Given the description of an element on the screen output the (x, y) to click on. 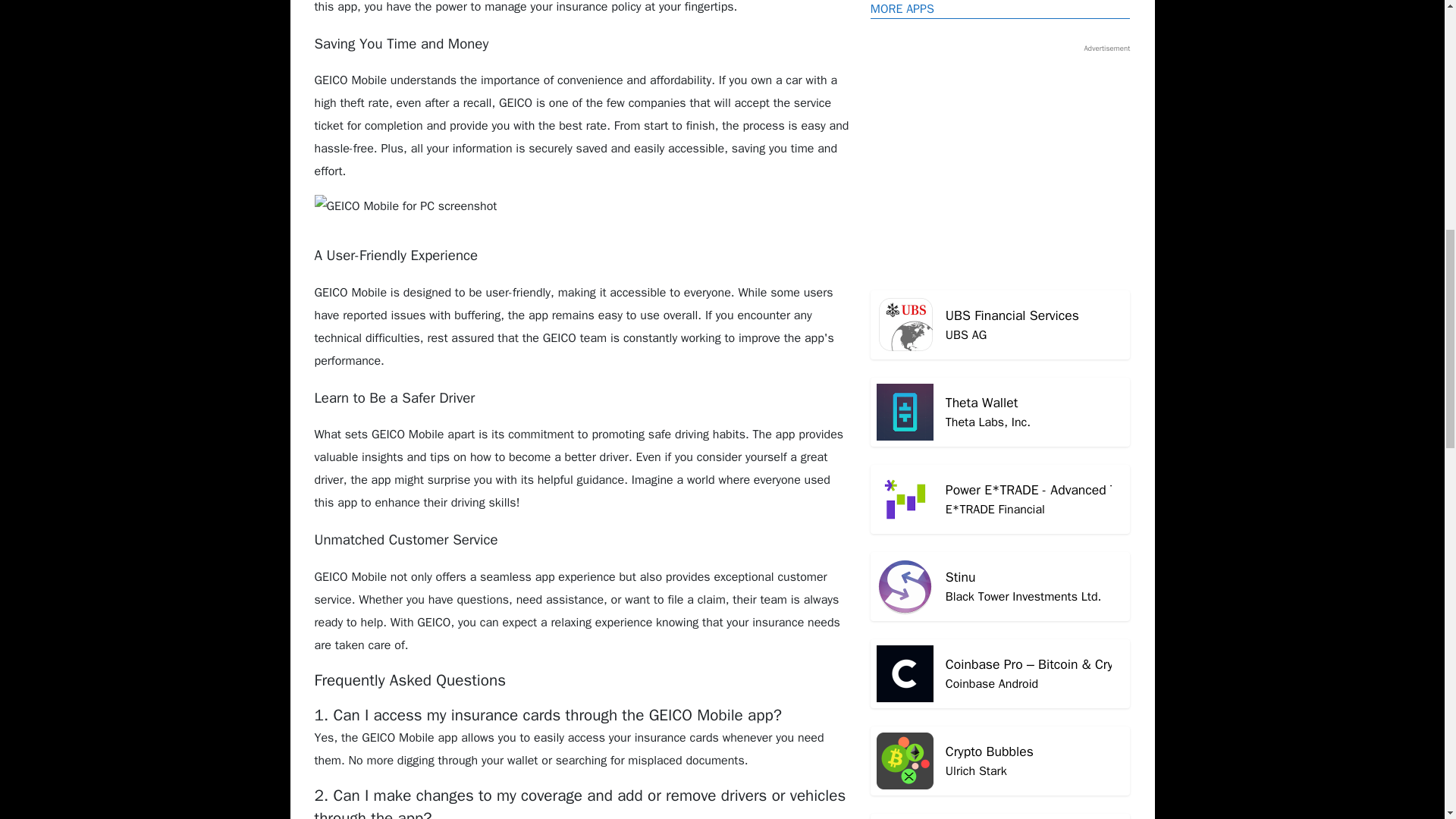
BitMart - Cryptocurrency Exchange for PC (1000, 649)
Monefy - Money Manager for PC (1000, 376)
Mint: Budget, Bills, Finance for PC (1000, 230)
Crypto Bubbles for PC (1000, 306)
MetaTrader 4 for PC (1000, 75)
GEICO Mobile for PC screenshot (1000, 718)
Ria Money Transfer for PC (1000, 376)
